Given the description of an element on the screen output the (x, y) to click on. 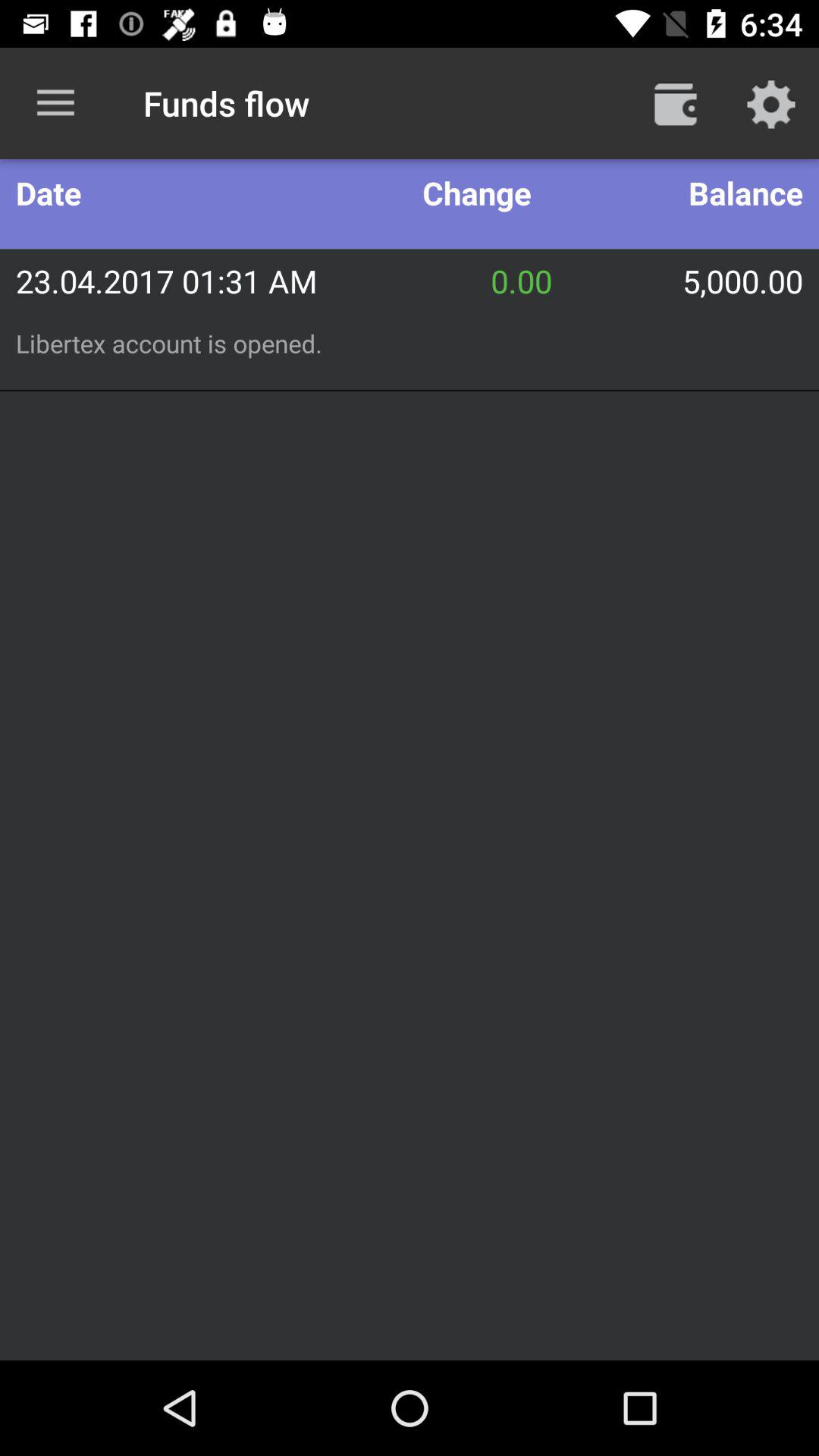
go to settings (771, 103)
